Given the description of an element on the screen output the (x, y) to click on. 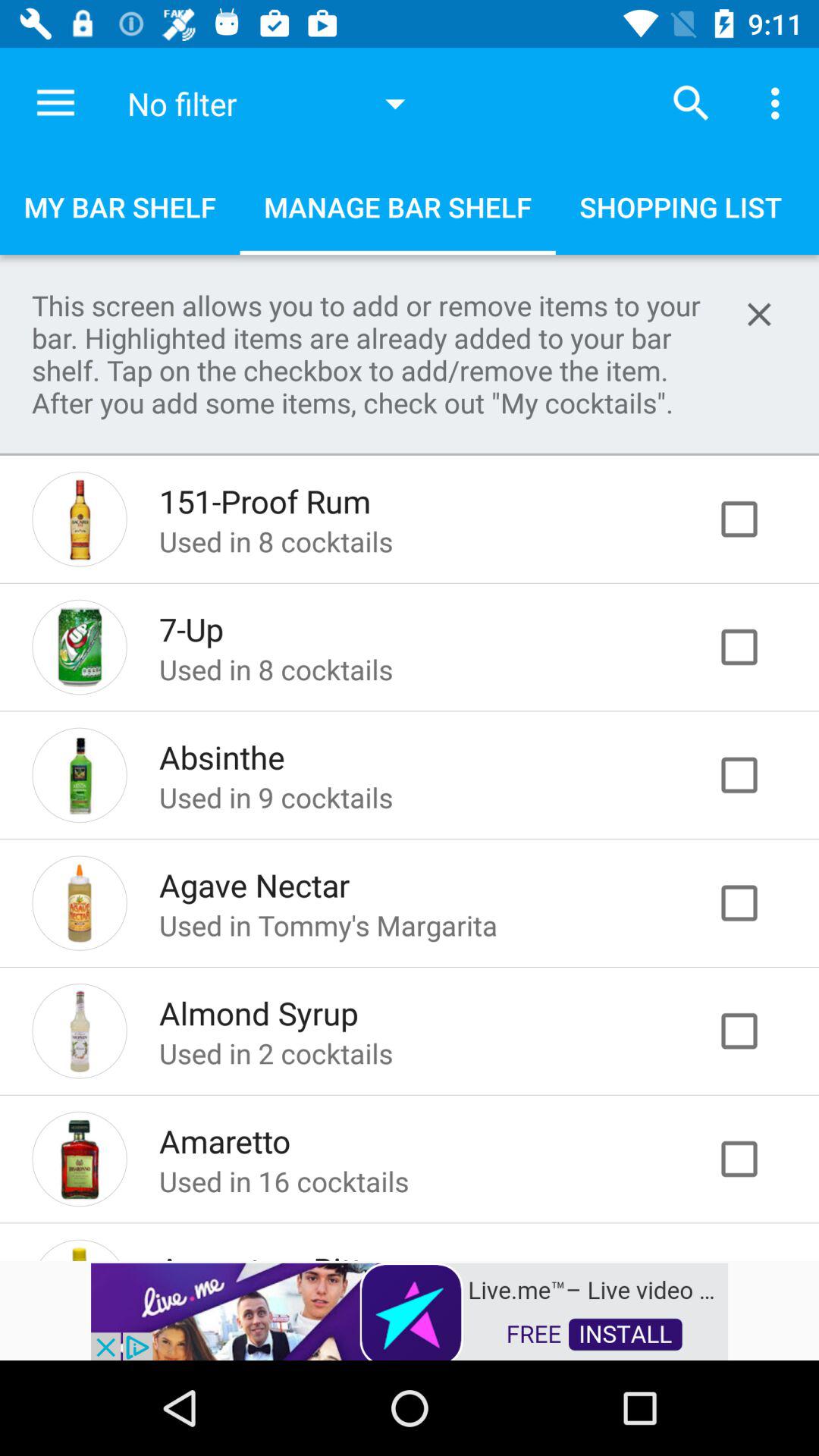
go to external advertisement (409, 1310)
